Given the description of an element on the screen output the (x, y) to click on. 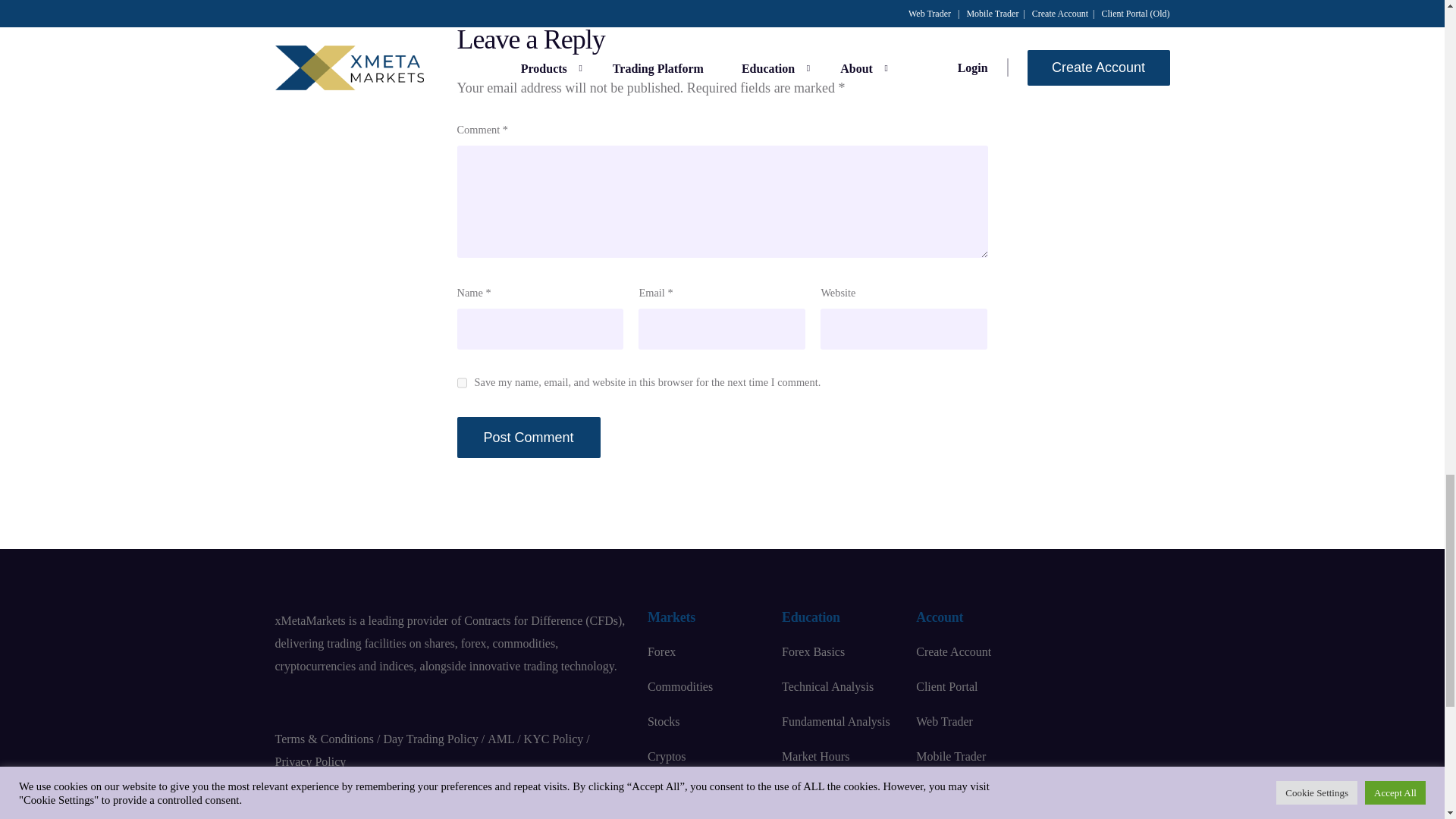
Post Comment (528, 436)
